Given the description of an element on the screen output the (x, y) to click on. 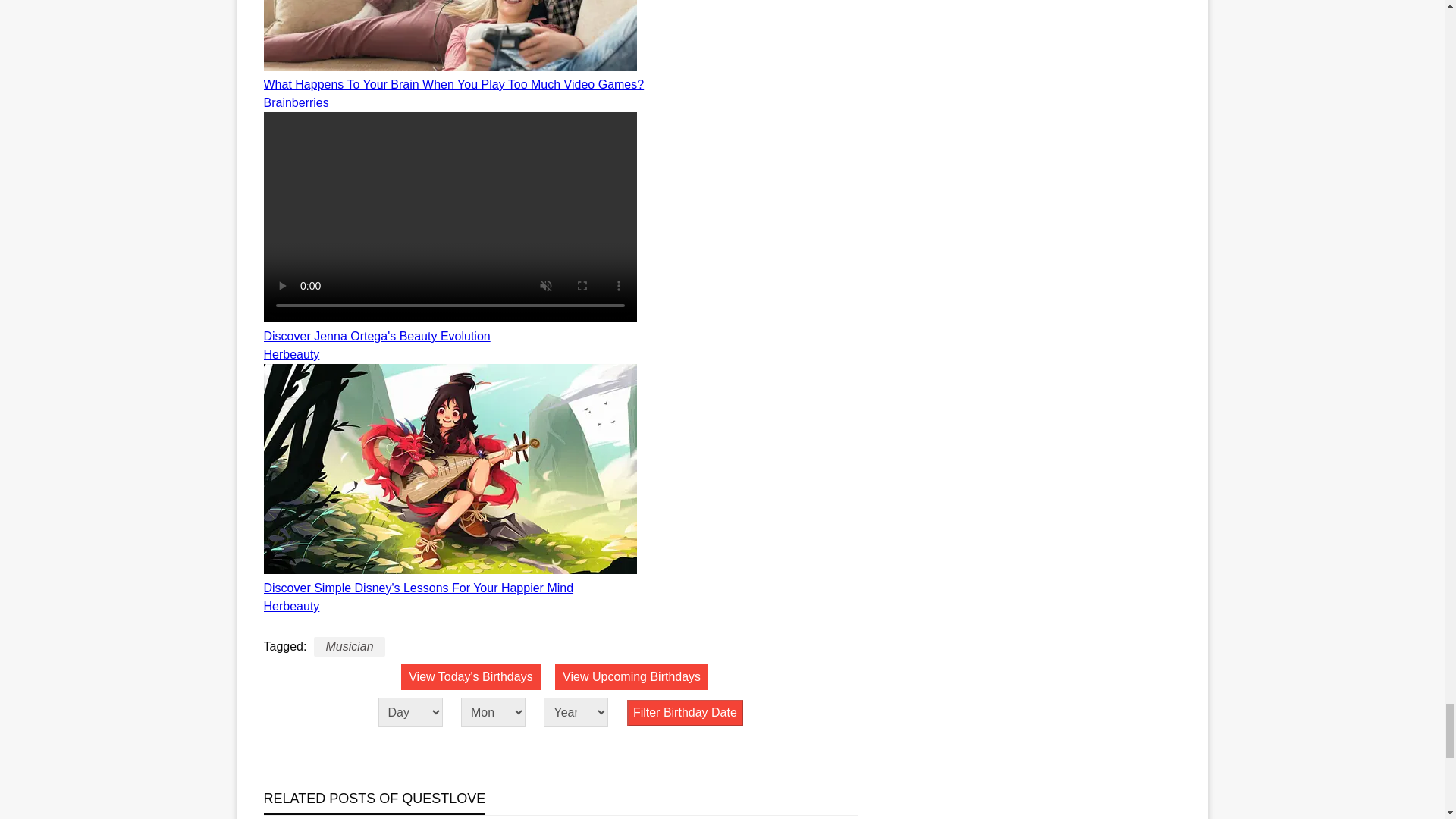
Filter Birthday Date (684, 713)
